Given the description of an element on the screen output the (x, y) to click on. 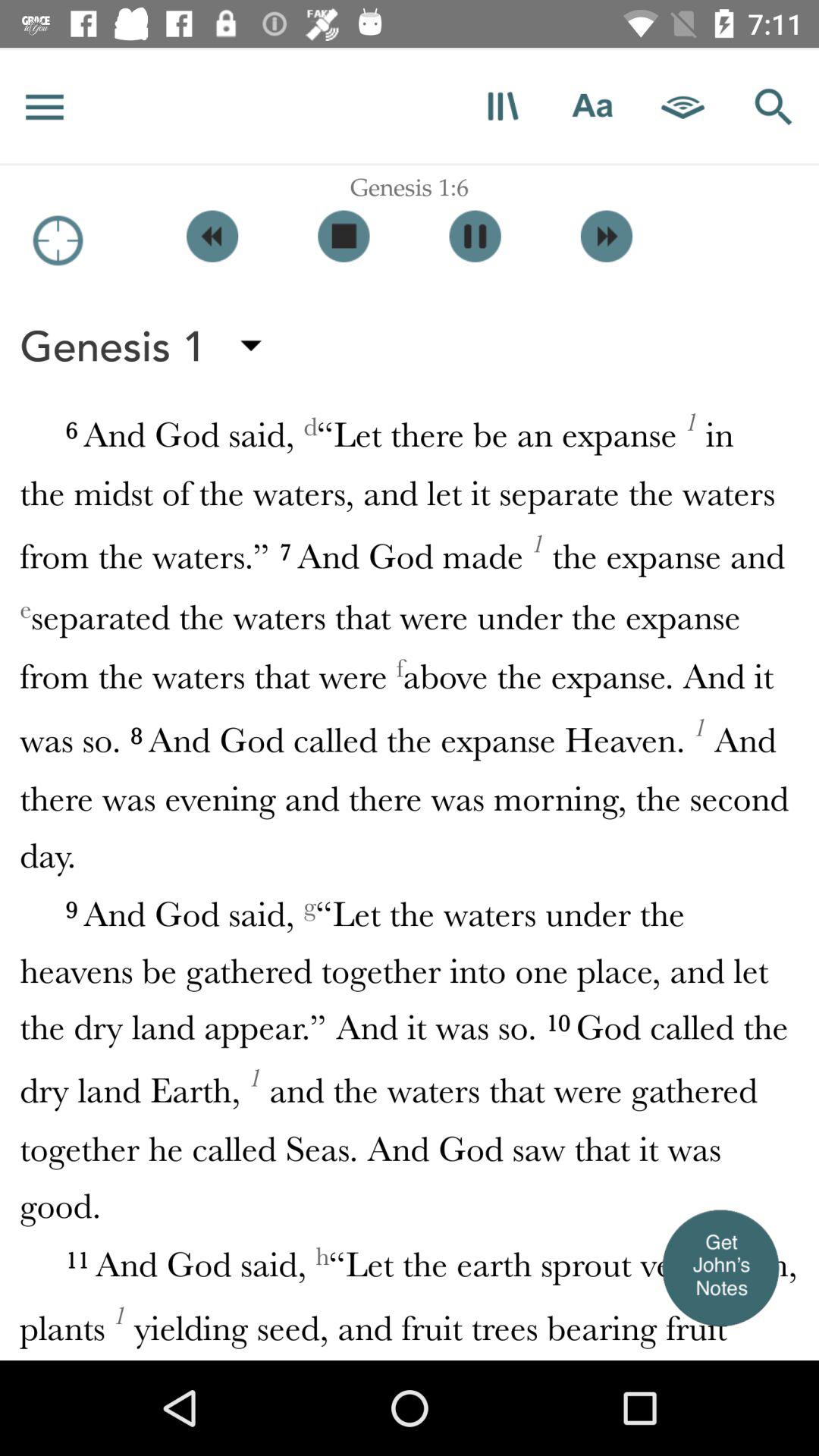
go forward (606, 236)
